Given the description of an element on the screen output the (x, y) to click on. 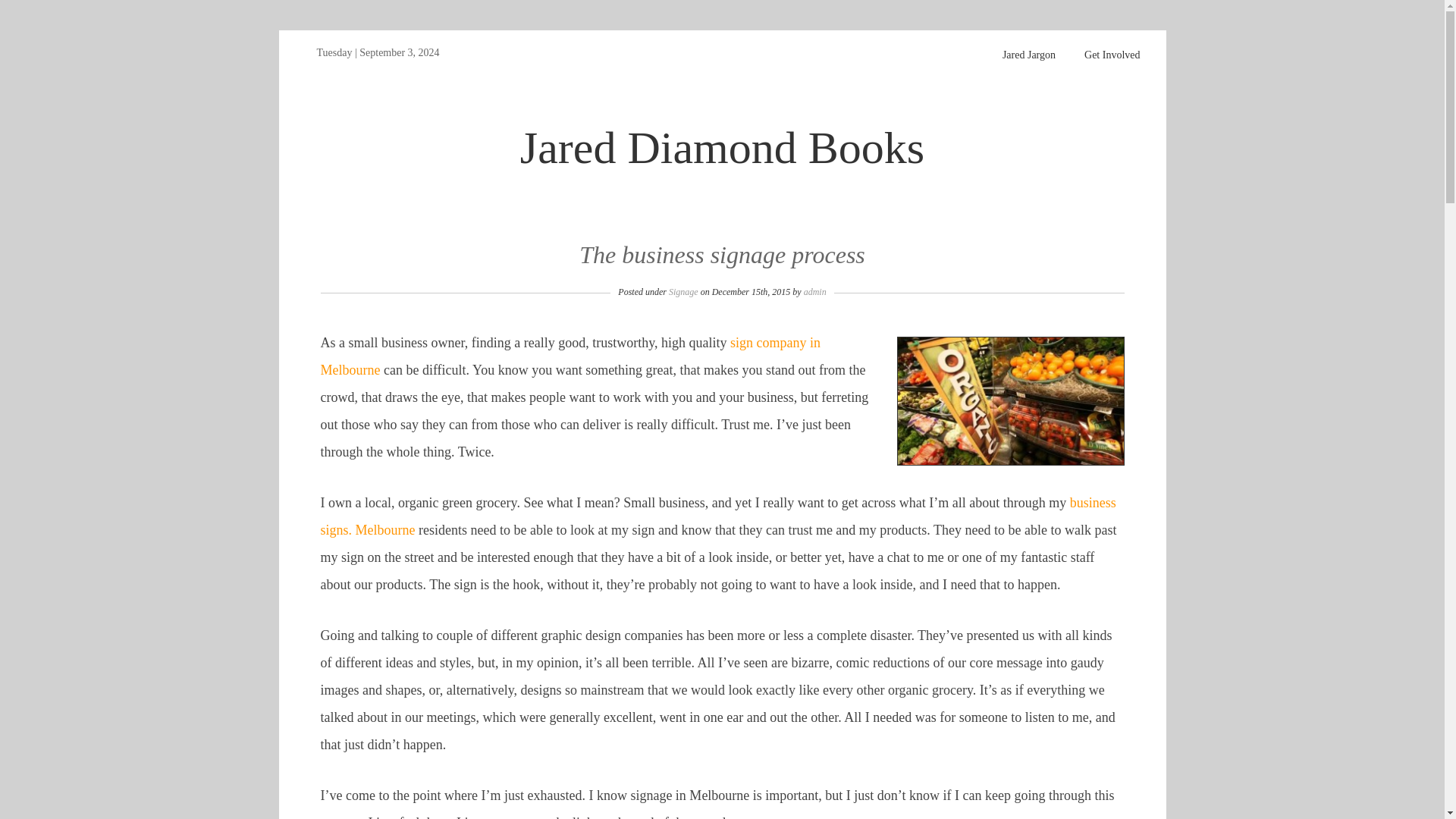
admin (815, 291)
The business signage process (721, 254)
Jared Diamond Books (721, 147)
Jared Jargon (1028, 54)
business signs. Melbourne (717, 516)
Get Involved (1112, 54)
Jared Jargon (1028, 54)
Posts by admin (815, 291)
Signage (683, 291)
Permanent Link to The business signage process (721, 254)
